Given the description of an element on the screen output the (x, y) to click on. 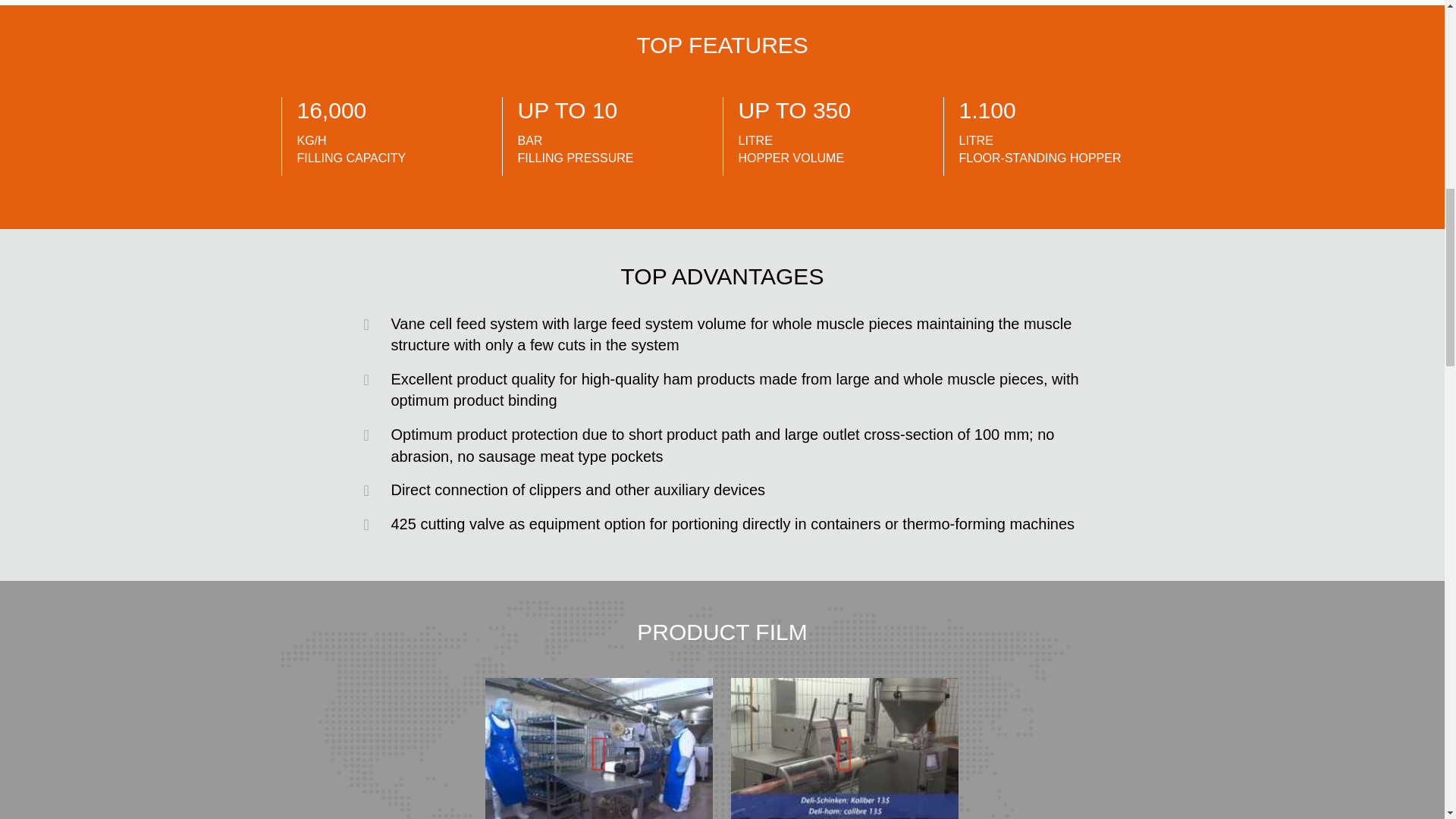
Handtmann-Maschinenfabrik-HVF670-Praxis-Schinken (598, 748)
Handtmann-Maschinenfabrik-HVF670-Schinken (844, 748)
